Given the description of an element on the screen output the (x, y) to click on. 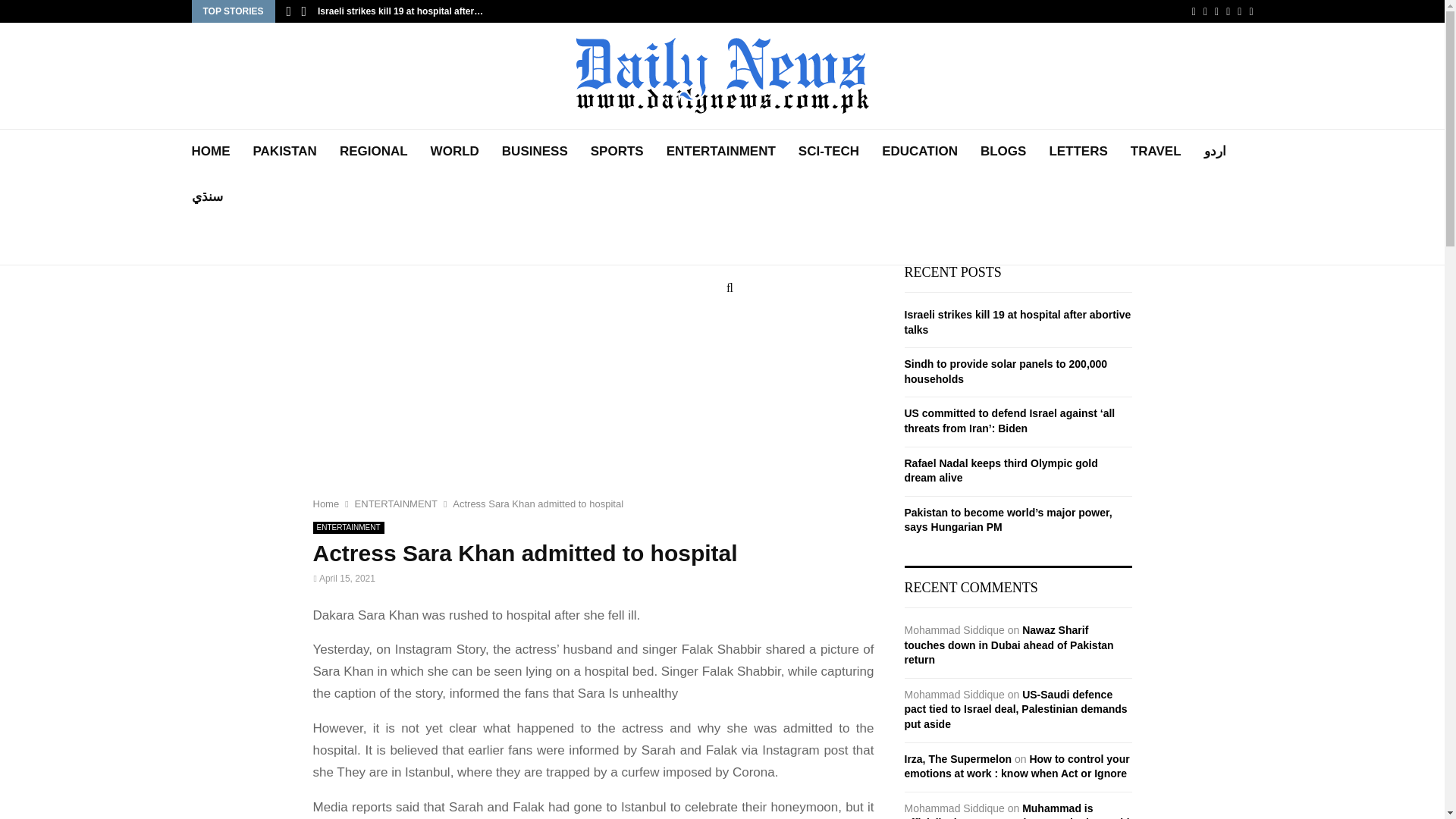
Rss (1239, 11)
HOME (210, 151)
Linkedin (1216, 11)
WORLD (454, 151)
Facebook (1193, 11)
Xing (1250, 11)
Xing (1250, 11)
REGIONAL (373, 151)
SCI-TECH (828, 151)
EDUCATION (920, 151)
Rss (1239, 11)
SPORTS (617, 151)
Twitter (1205, 11)
ENTERTAINMENT (721, 151)
Youtube (1227, 11)
